Given the description of an element on the screen output the (x, y) to click on. 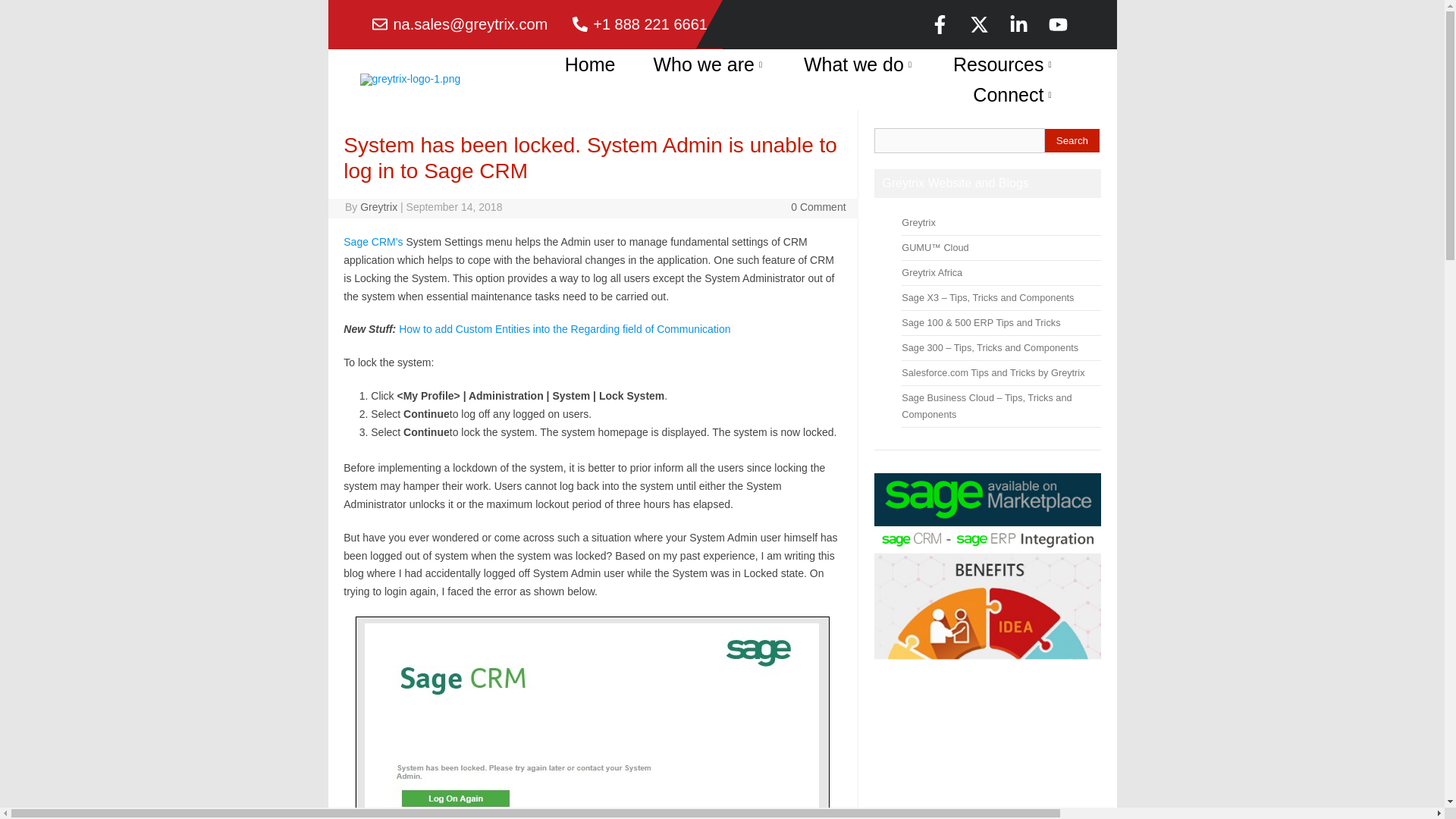
Search (1072, 140)
Greytrix Africa (931, 272)
Posts by Greytrix (378, 206)
Greytrix Sage Business Cloud (986, 406)
What we do (859, 64)
Greytrix Salesforce.com Blog (992, 372)
Who we are (708, 64)
Resources (1004, 64)
Home (590, 64)
